Given the description of an element on the screen output the (x, y) to click on. 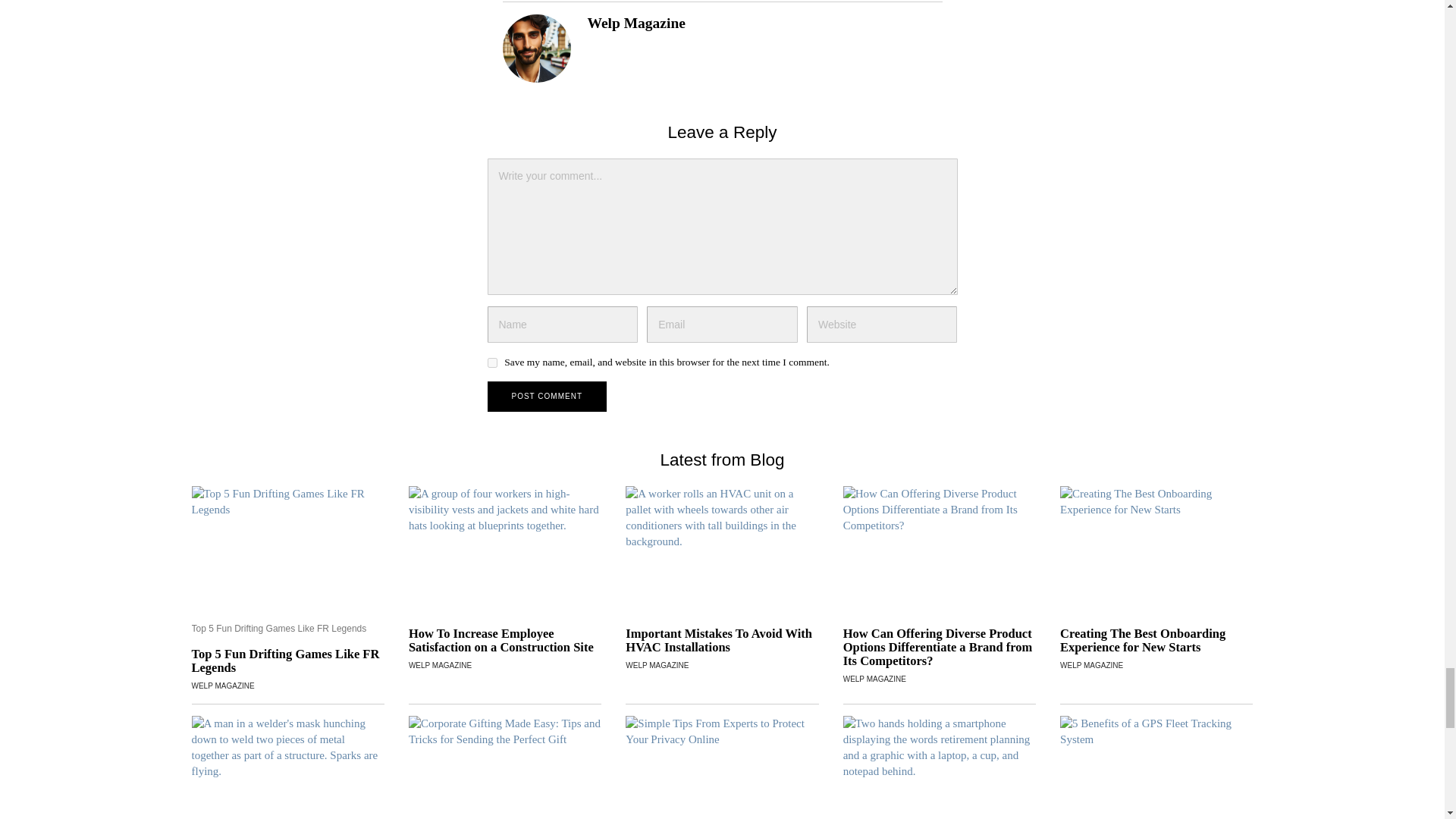
Post Comment (545, 396)
yes (491, 362)
